Given the description of an element on the screen output the (x, y) to click on. 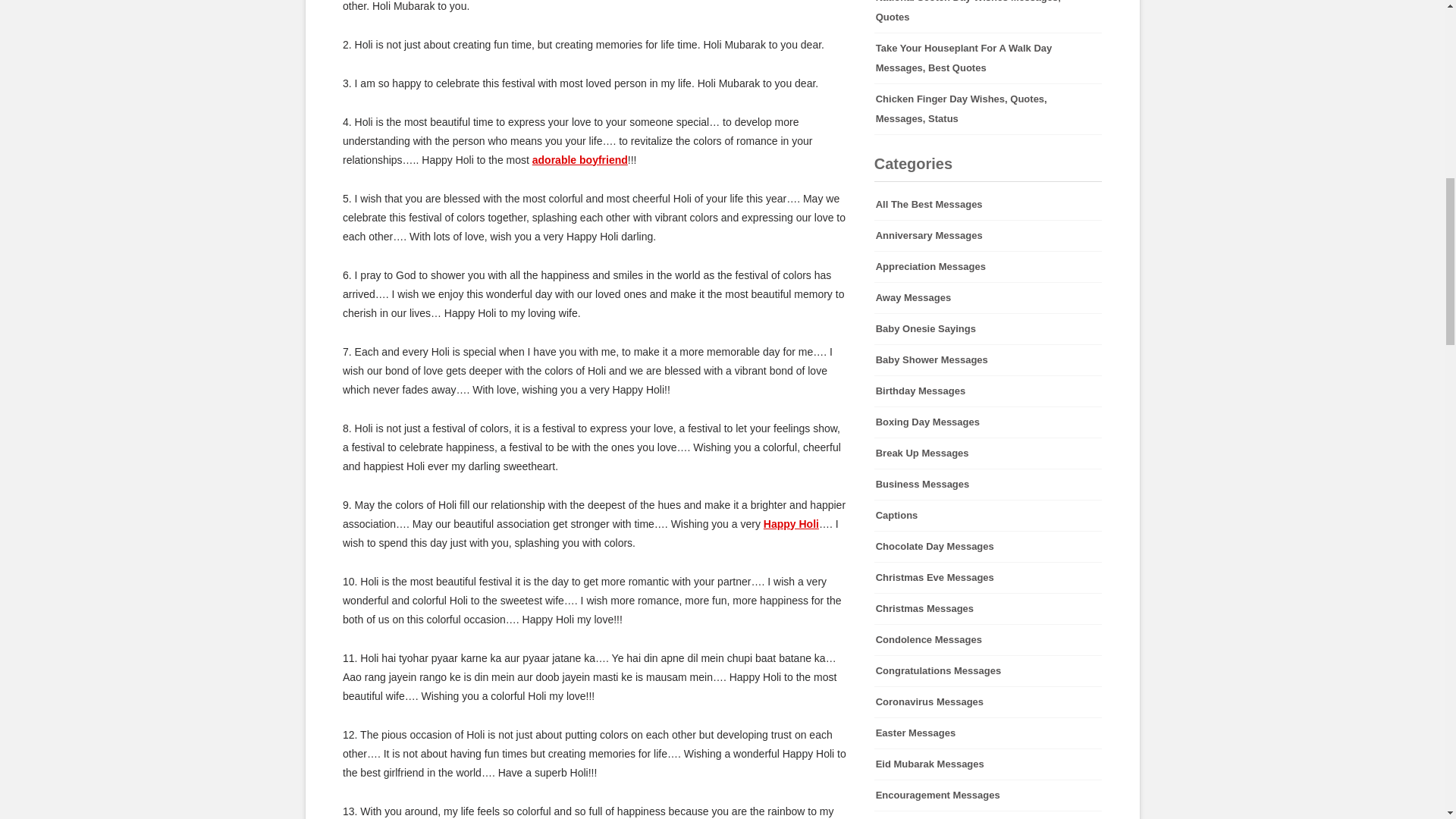
Condolence Messages (988, 639)
Away Messages (988, 297)
All The Best Messages (988, 204)
Christmas Eve Messages (988, 577)
Break Up Messages (988, 453)
Baby Onesie Sayings (988, 328)
Appreciation Messages (988, 266)
National Scotch Day Wishes Messages, Quotes (988, 16)
Happy Holi (790, 523)
Boxing Day Messages (988, 422)
Business Messages (988, 484)
Take Your Houseplant For A Walk Day Messages, Best Quotes (988, 58)
Chocolate Day Messages (988, 546)
Baby Shower Messages (988, 359)
Anniversary Messages (988, 235)
